Given the description of an element on the screen output the (x, y) to click on. 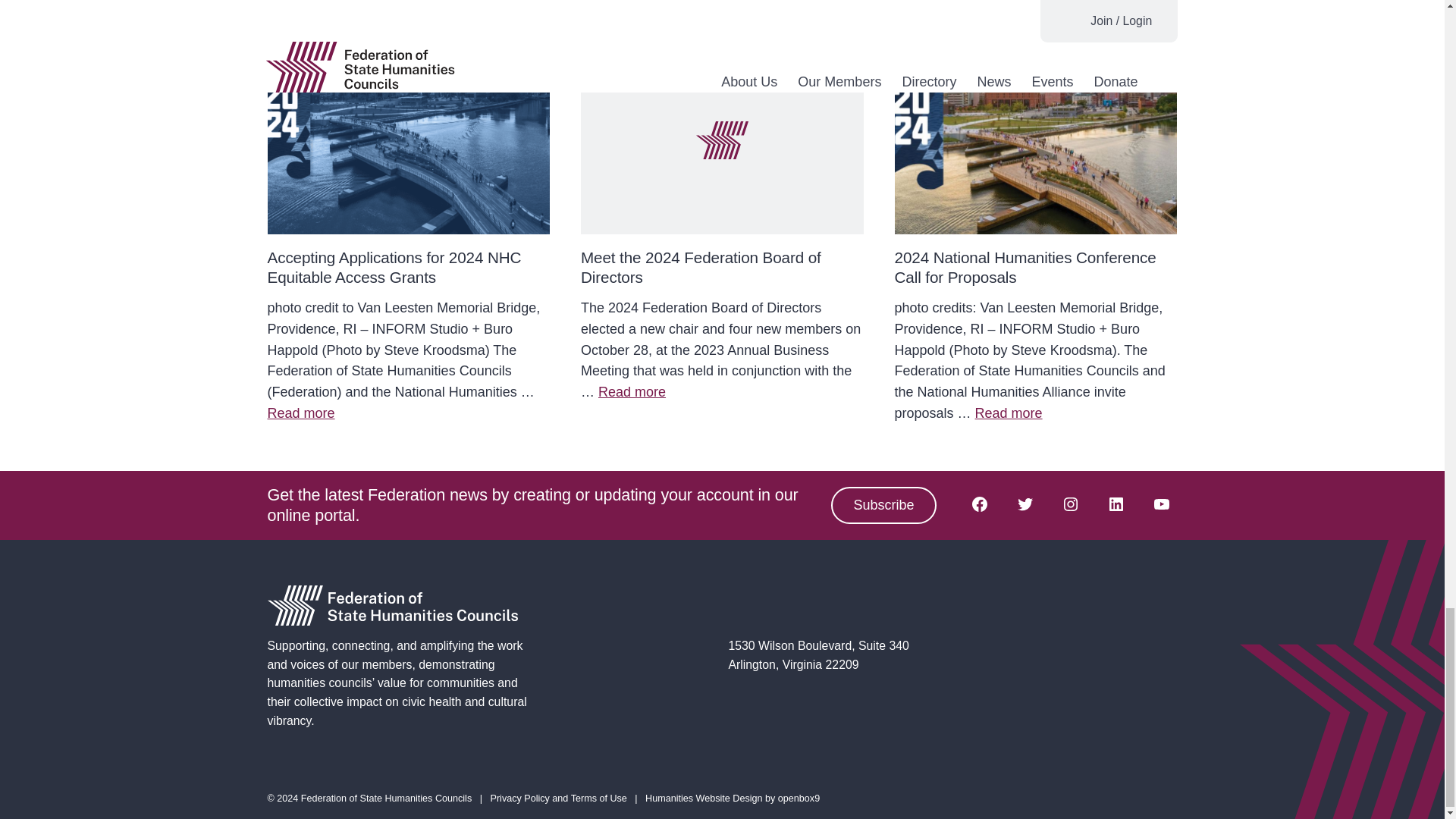
Read more (1008, 412)
Accepting Applications for 2024 NHC Equitable Access Grants (393, 266)
2024 National Humanities Conference Call for Proposals (1025, 266)
Read more (631, 391)
Follow us on Linkedin (1115, 504)
Follow us on Facebook (978, 504)
Follow us on Youtube (1160, 504)
Follow us on Instagram (1070, 504)
Follow us on Twitter (1025, 504)
Read more (300, 412)
Meet the 2024 Federation Board of Directors (700, 266)
Subscribe (883, 505)
